Given the description of an element on the screen output the (x, y) to click on. 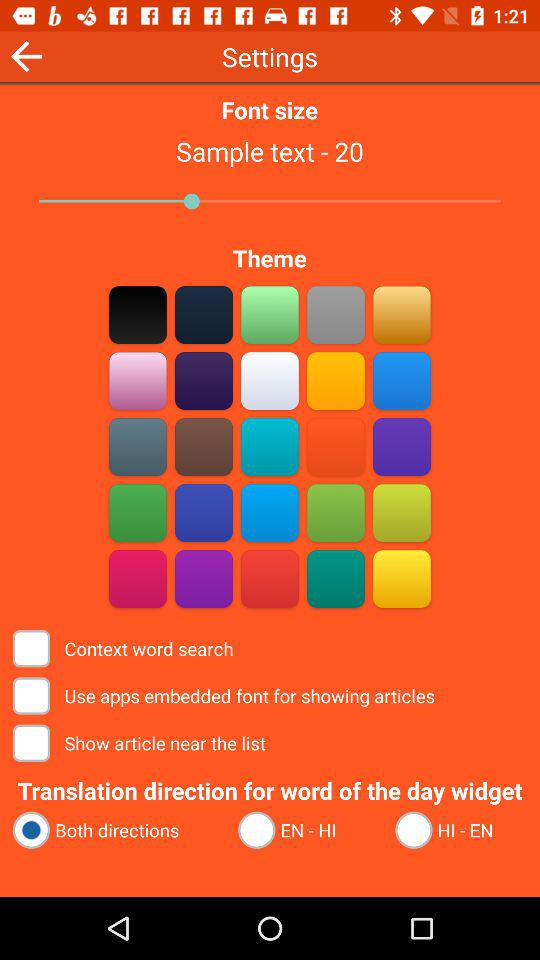
select color orange (401, 314)
